Given the description of an element on the screen output the (x, y) to click on. 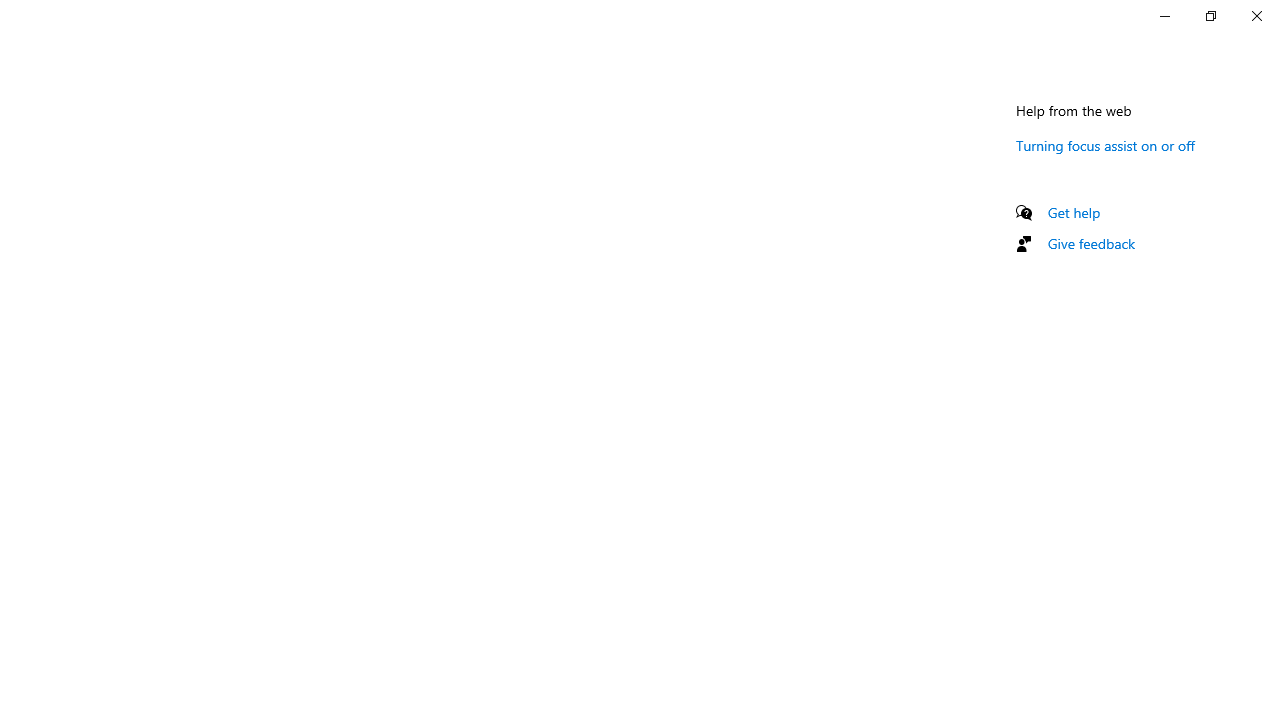
Restore Settings (1210, 15)
Turning focus assist on or off (1105, 145)
Close Settings (1256, 15)
Get help (1074, 212)
Minimize Settings (1164, 15)
Give feedback (1091, 243)
